Given the description of an element on the screen output the (x, y) to click on. 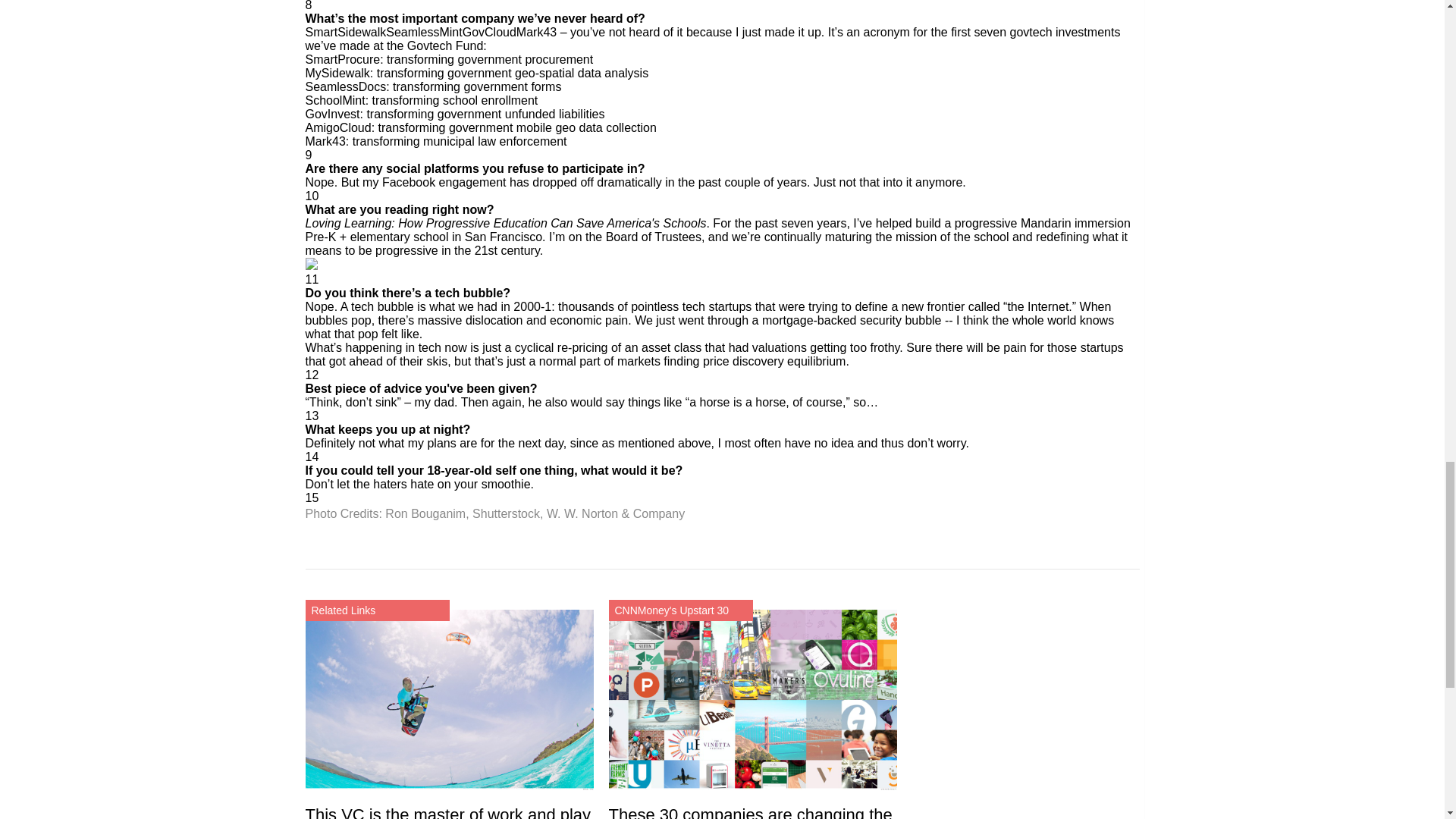
This VC is the master of work and play (447, 812)
